Given the description of an element on the screen output the (x, y) to click on. 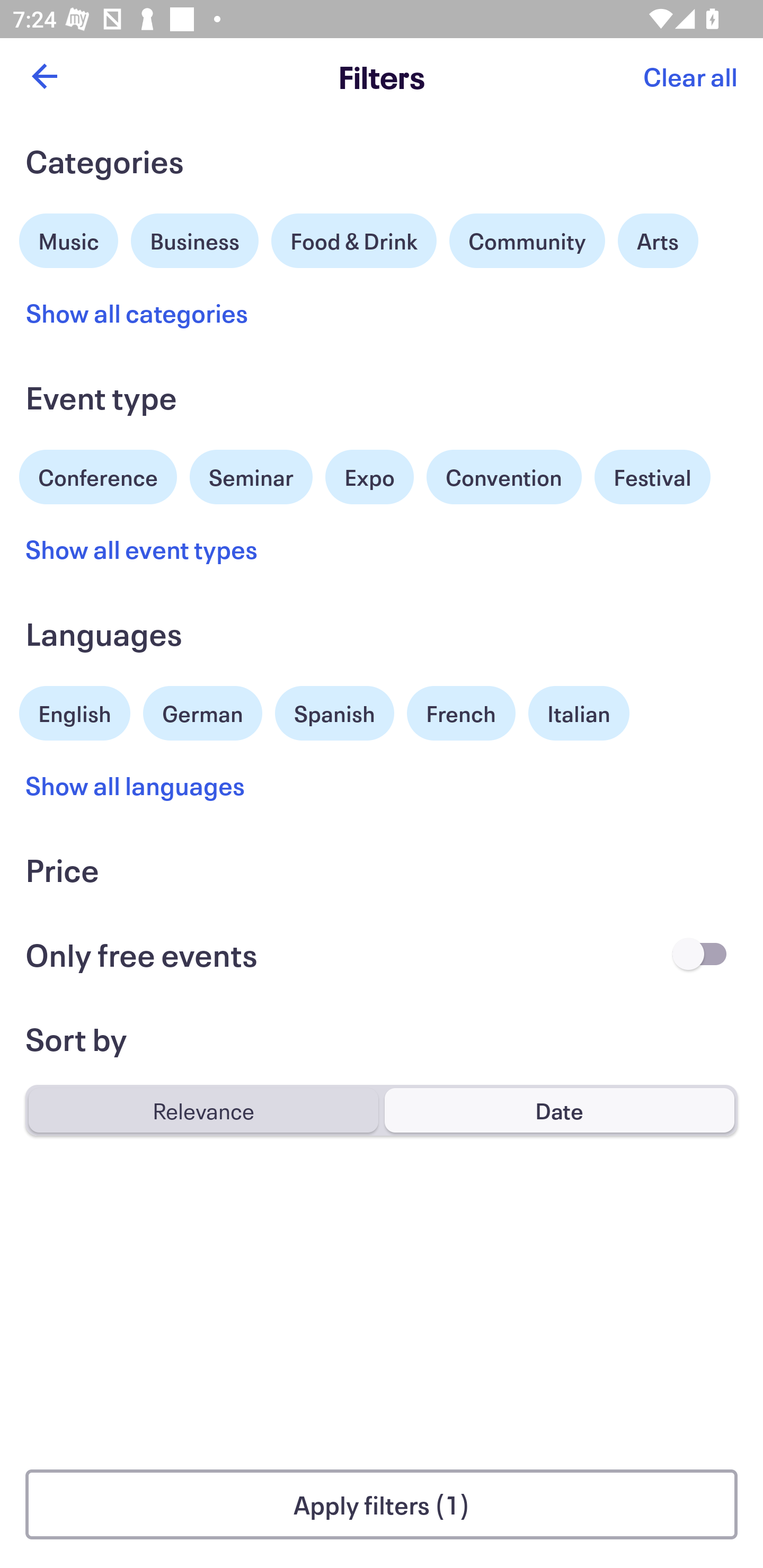
Back button (44, 75)
Clear all (690, 75)
Music (68, 238)
Business (194, 238)
Food & Drink (353, 240)
Community (527, 240)
Arts (658, 240)
Show all categories (136, 312)
Conference (98, 475)
Seminar (250, 477)
Expo (369, 477)
Convention (503, 477)
Festival (652, 477)
Show all event types (141, 548)
English (74, 710)
German (202, 710)
Spanish (334, 713)
French (460, 713)
Italian (578, 713)
Show all languages (135, 784)
Relevance (203, 1109)
Date (559, 1109)
Apply filters (1) (381, 1504)
